Given the description of an element on the screen output the (x, y) to click on. 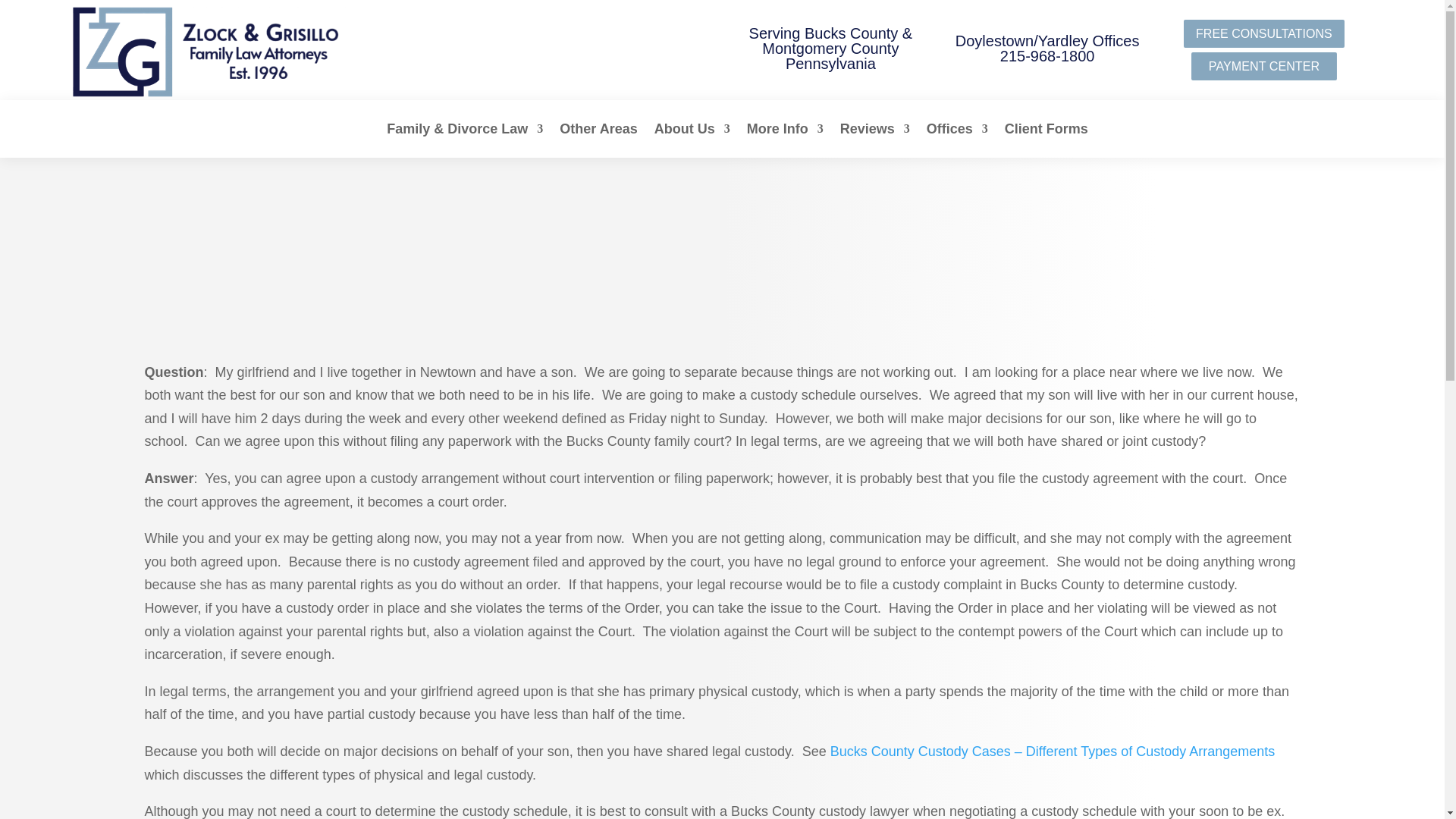
Other Areas (598, 128)
About Us (691, 128)
PAYMENT CENTER (1263, 66)
Zlock-Grisillo-logo sm b (211, 51)
FREE CONSULTATIONS (1263, 33)
